Given the description of an element on the screen output the (x, y) to click on. 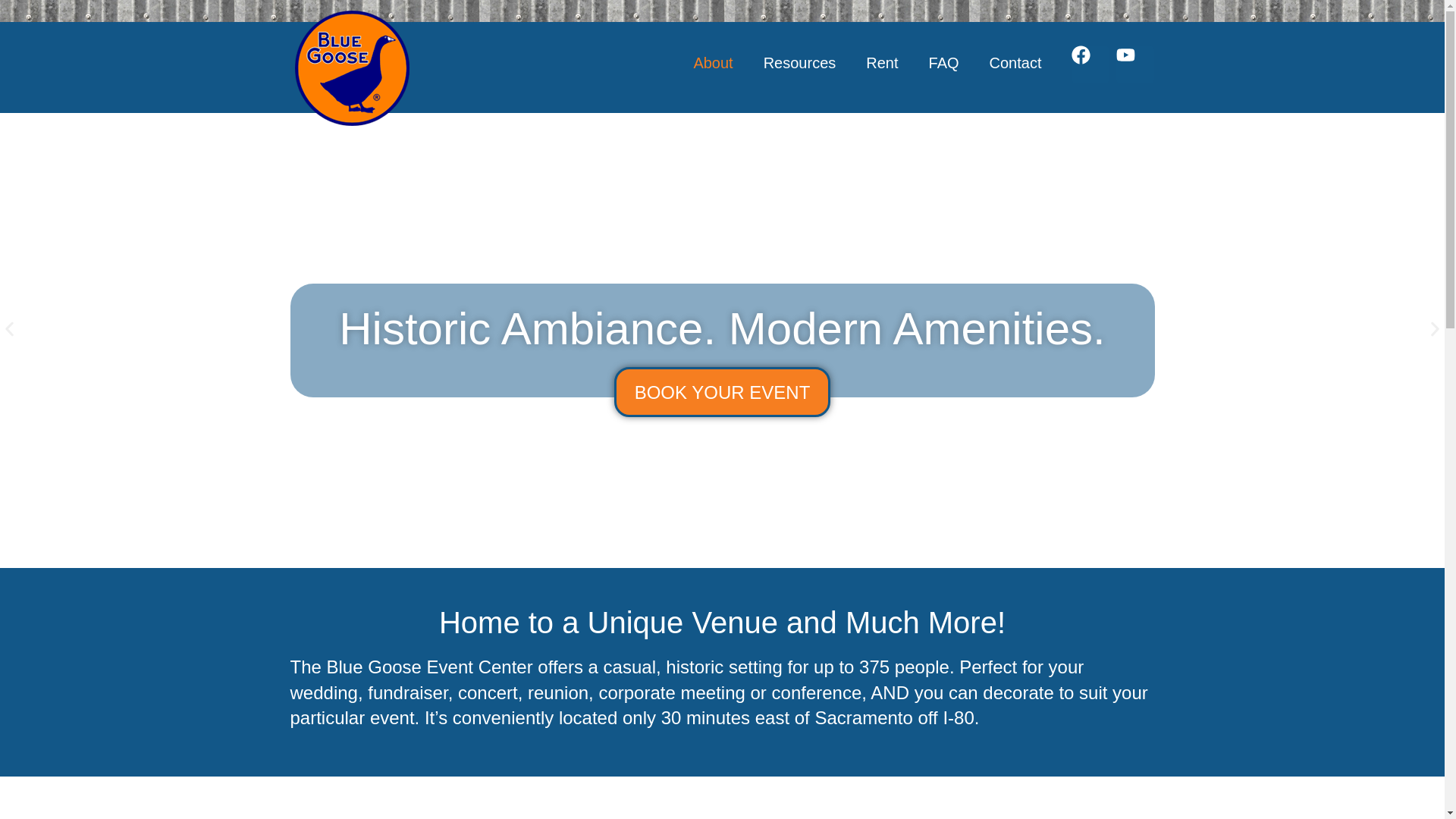
Rent (881, 62)
Resources (799, 62)
FAQ (944, 62)
Contact (1015, 62)
About (713, 62)
